Given the description of an element on the screen output the (x, y) to click on. 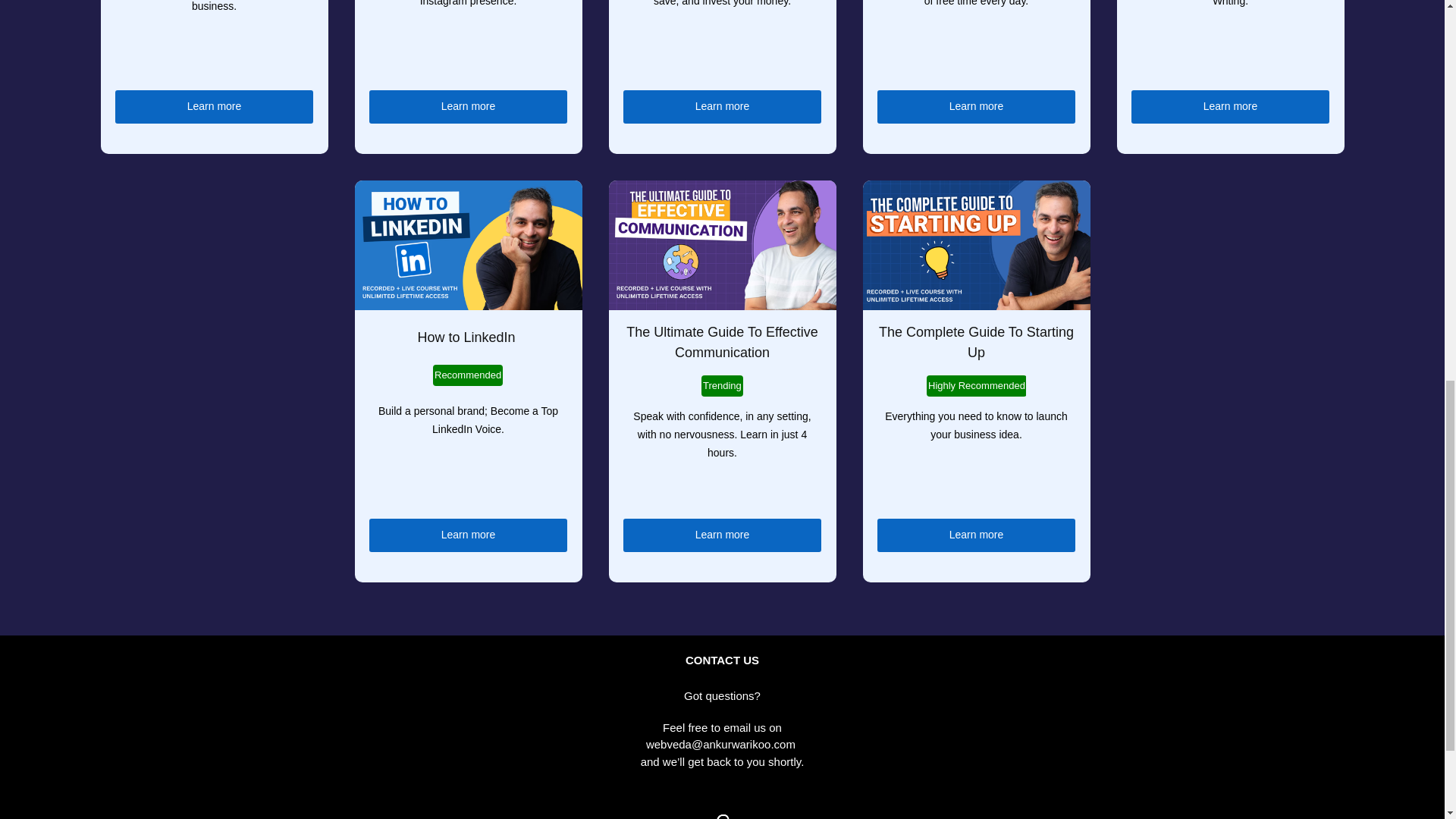
The Complete Guide To Starting Up (978, 342)
Learn more (214, 106)
Learn more (976, 106)
Learn more (976, 535)
Learn more (468, 106)
Learn more (1230, 106)
Learn more (468, 535)
Learn more (722, 535)
How to LinkedIn  (467, 337)
Learn more (722, 106)
